Given the description of an element on the screen output the (x, y) to click on. 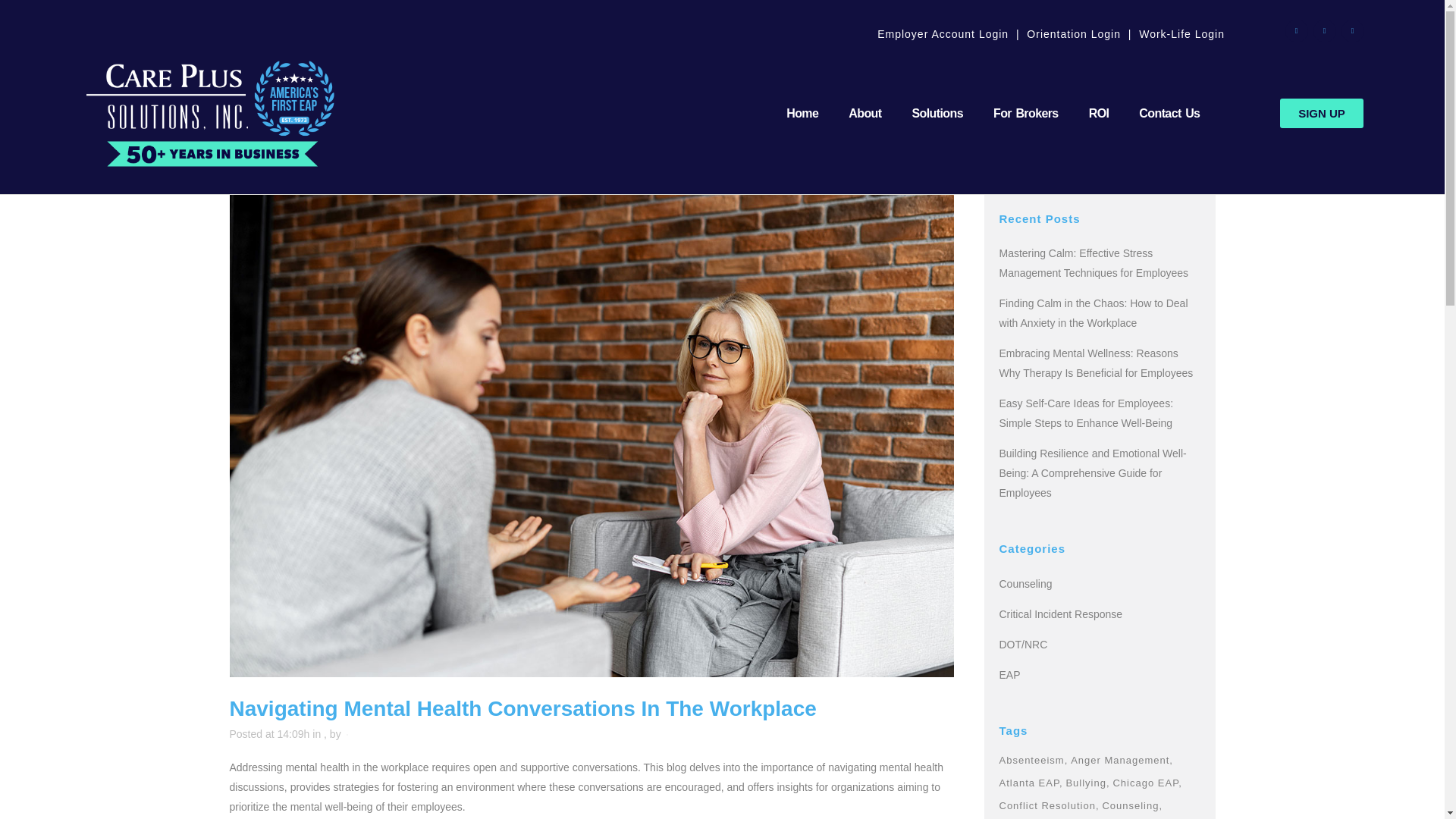
Orientation Login (1073, 33)
For Brokers (1026, 113)
Employer Account Login (943, 33)
Work-Life Login (1181, 33)
